Given the description of an element on the screen output the (x, y) to click on. 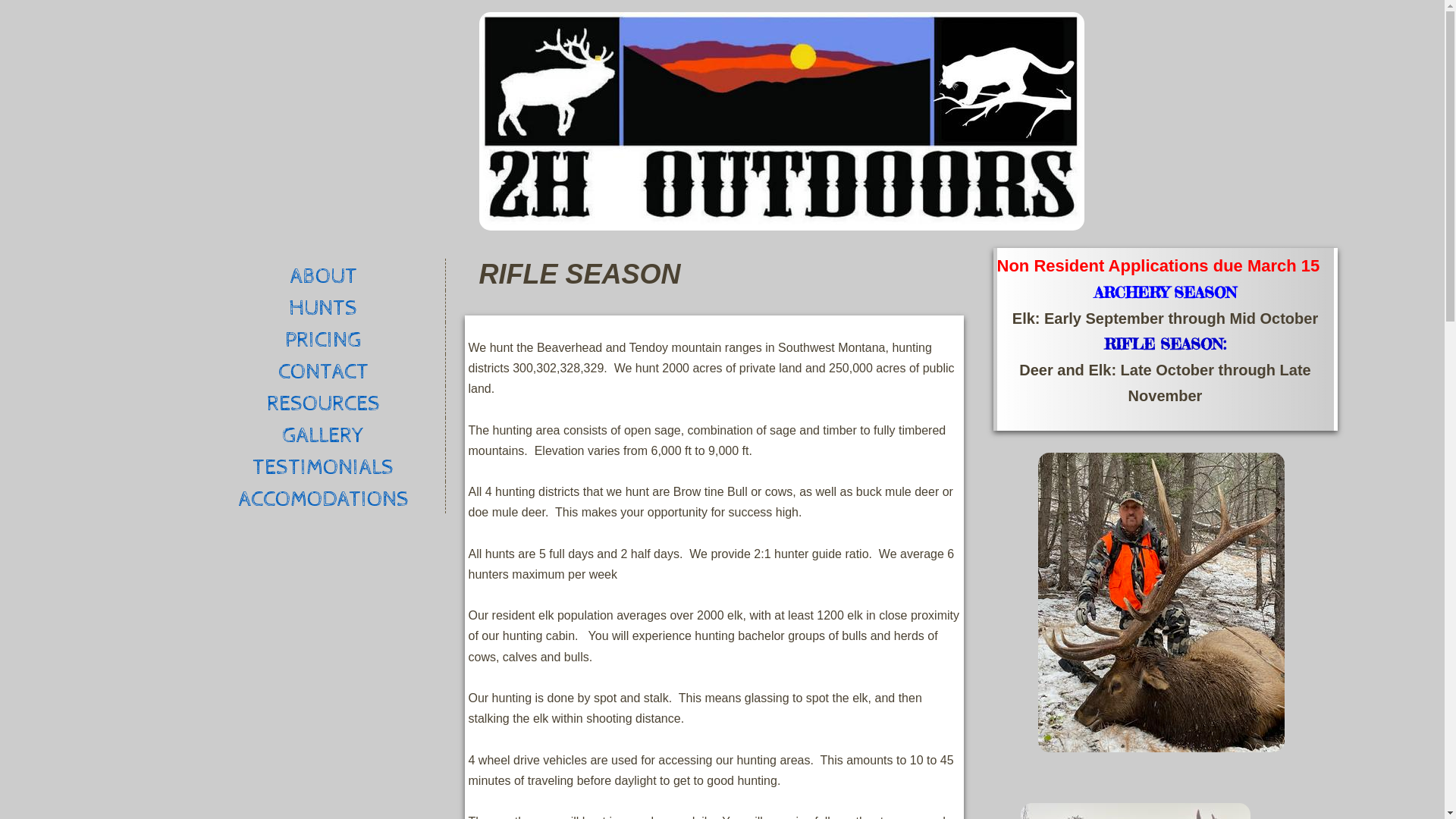
PRICING Element type: text (323, 338)
GALLERY Element type: text (323, 433)
ABOUT Element type: text (323, 274)
ACCOMODATIONS Element type: text (323, 497)
TESTIMONIALS Element type: text (323, 465)
RESOURCES Element type: text (323, 401)
CONTACT Element type: text (323, 369)
HUNTS Element type: text (323, 306)
